Given the description of an element on the screen output the (x, y) to click on. 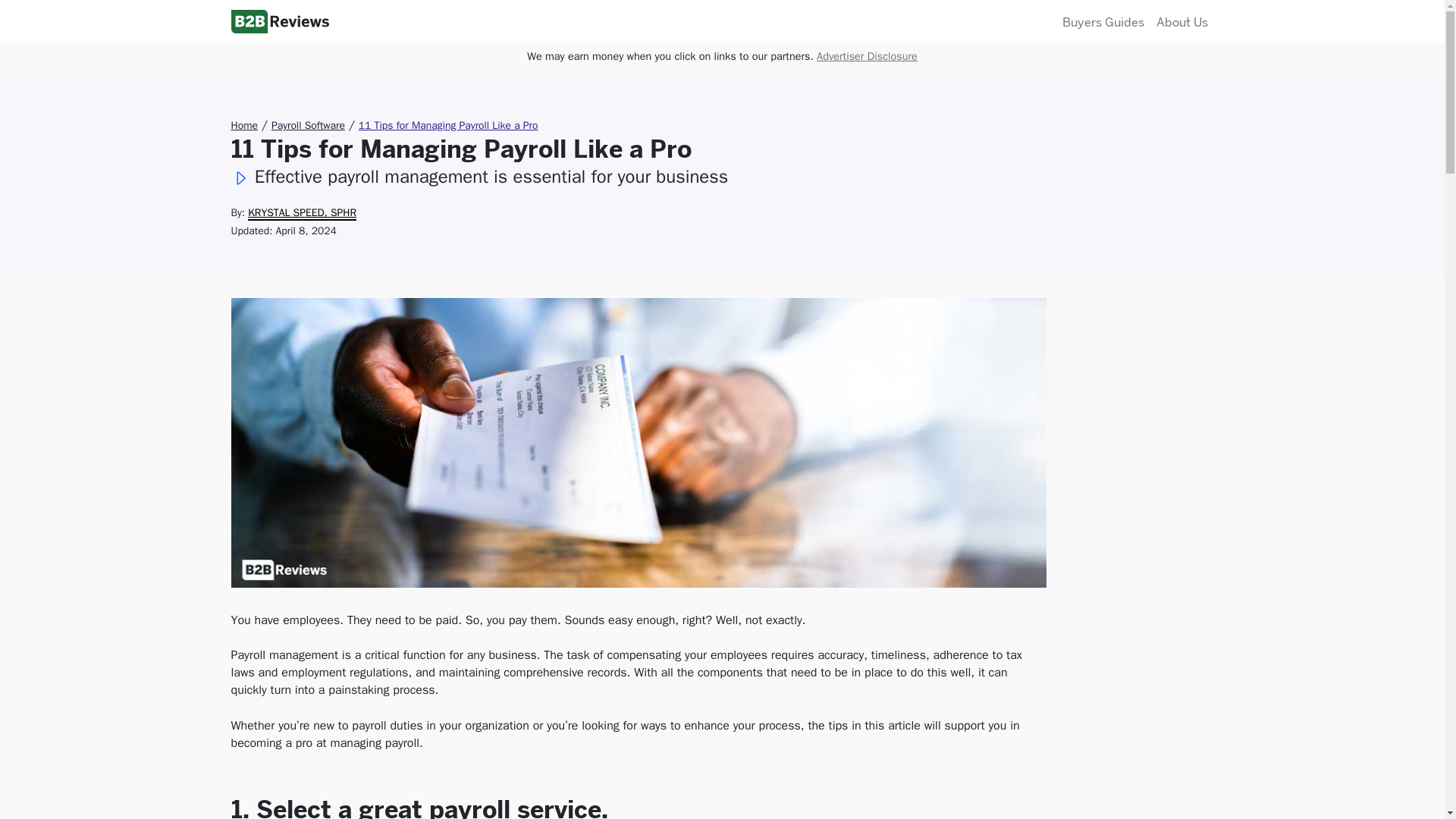
Advertiser Disclosure (866, 56)
Payroll Software (307, 124)
KRYSTAL SPEED, SPHR (301, 213)
11 Tips for Managing Payroll Like a Pro (448, 124)
Home (243, 124)
Buyers Guides (1102, 21)
About Us (1181, 21)
